Given the description of an element on the screen output the (x, y) to click on. 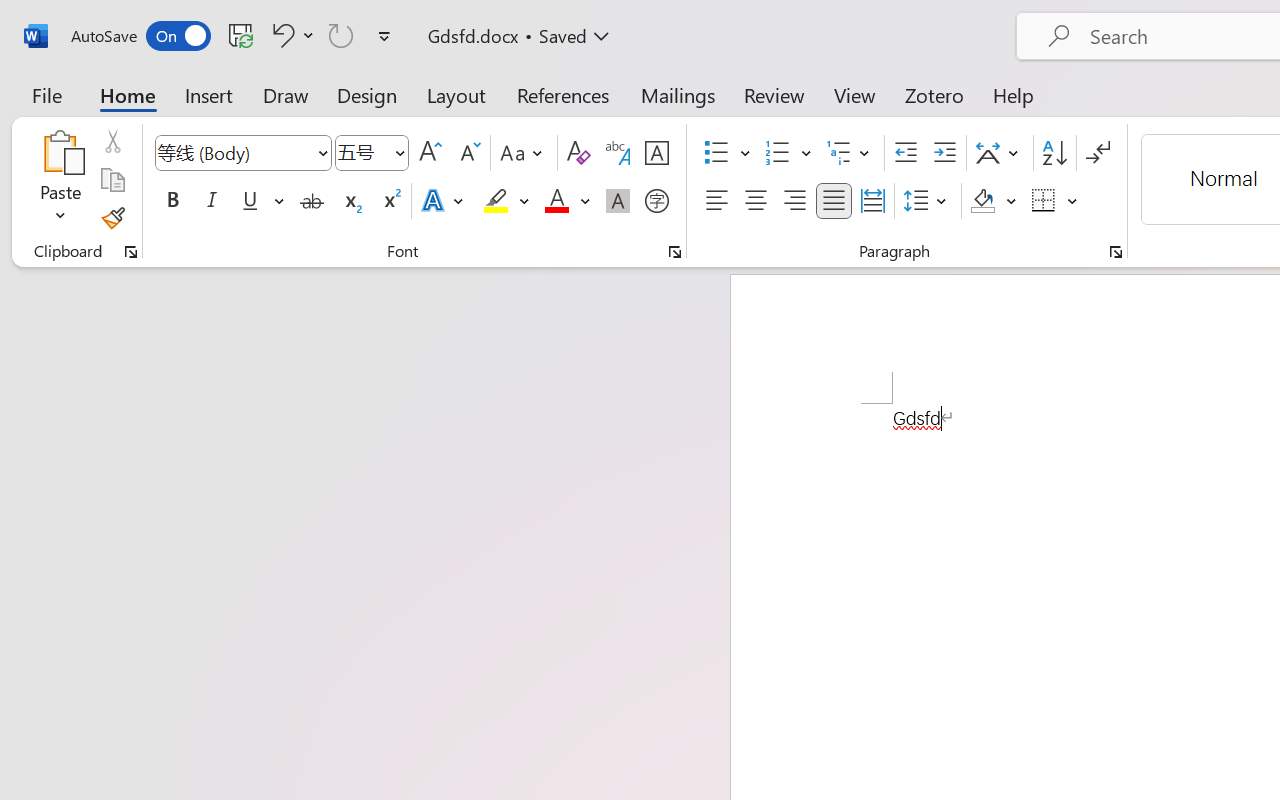
Cut (112, 141)
Align Left (716, 201)
Character Shading (618, 201)
Increase Indent (944, 153)
Shading (993, 201)
